Given the description of an element on the screen output the (x, y) to click on. 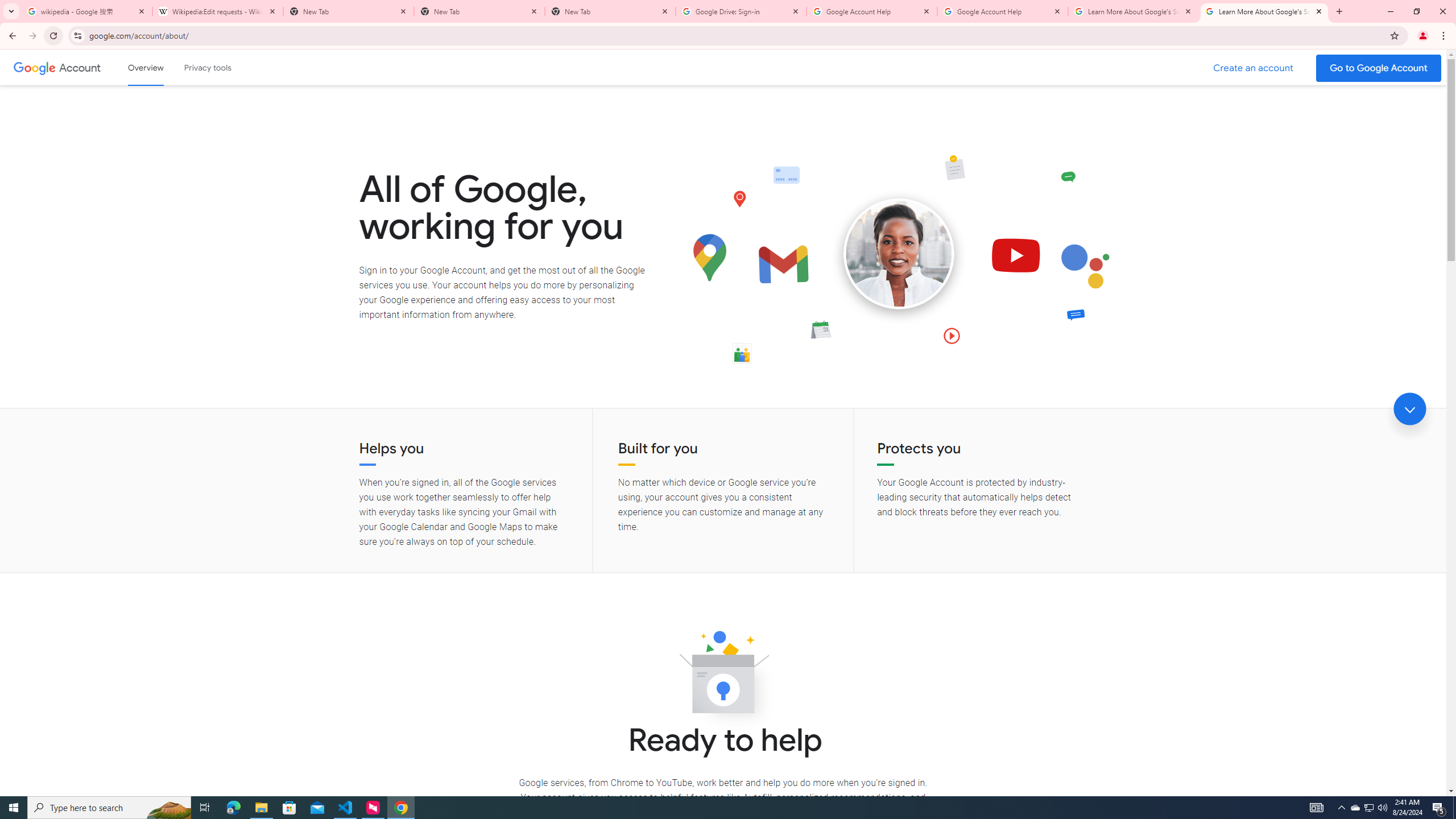
Create a Google Account (1253, 67)
Privacy tools (207, 67)
Google Account (80, 67)
Ready to help (722, 675)
New Tab (479, 11)
Google logo (34, 67)
